Given the description of an element on the screen output the (x, y) to click on. 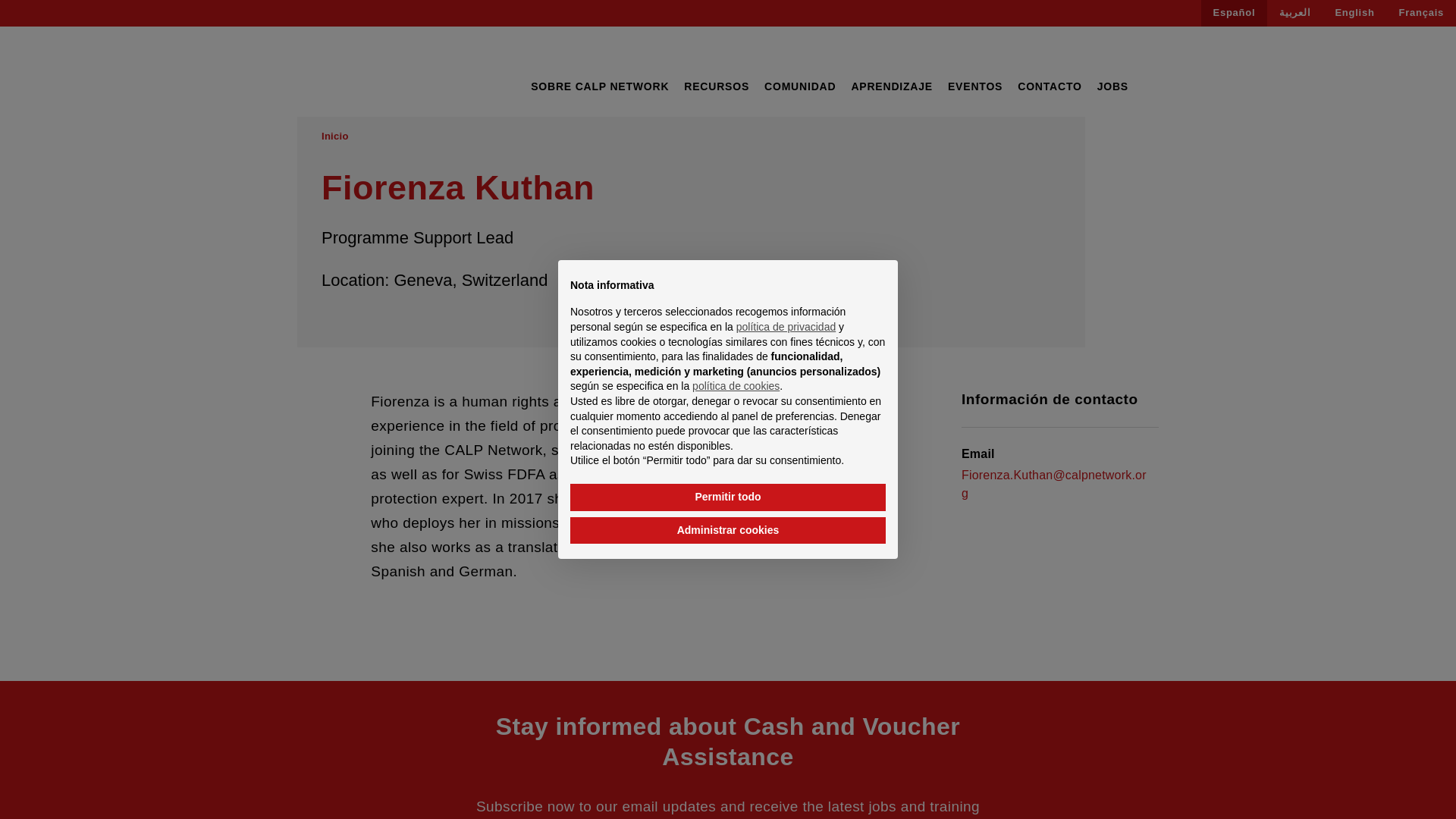
CONTACTO (1049, 86)
Go to Inicio (335, 136)
COMUNIDAD (799, 86)
JOBS (1112, 86)
SOBRE CALP NETWORK (599, 86)
RECURSOS (716, 86)
APRENDIZAJE (891, 86)
Go to homepage (369, 72)
EVENTOS (975, 86)
